Given the description of an element on the screen output the (x, y) to click on. 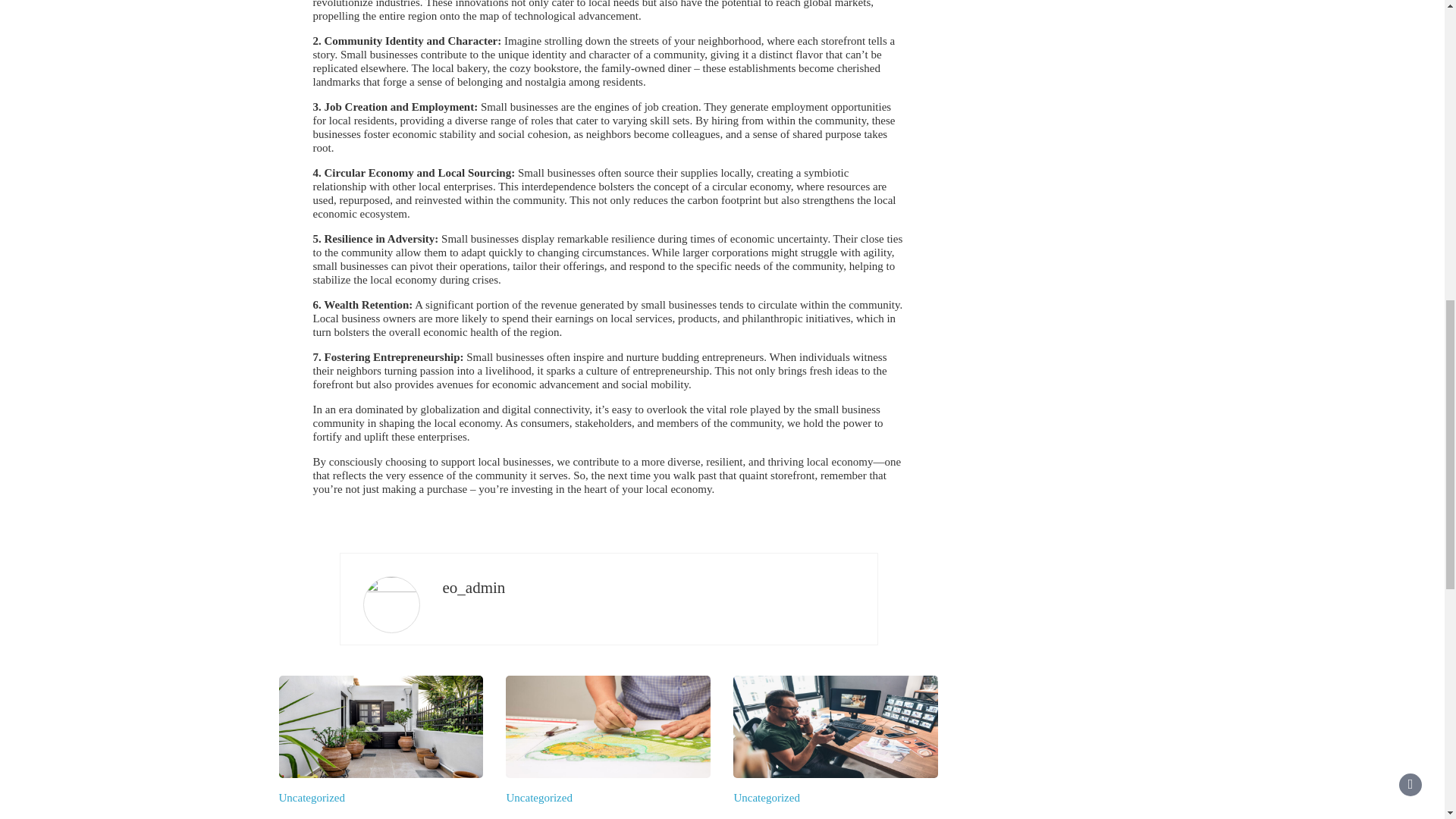
Professional Patio Design Services for the Home (361, 817)
Photography and Business: A Comprehensive Guide (826, 817)
Uncategorized (766, 797)
Looking at the Role of Landscape Gardeners (577, 817)
Uncategorized (538, 797)
Uncategorized (312, 797)
